Given the description of an element on the screen output the (x, y) to click on. 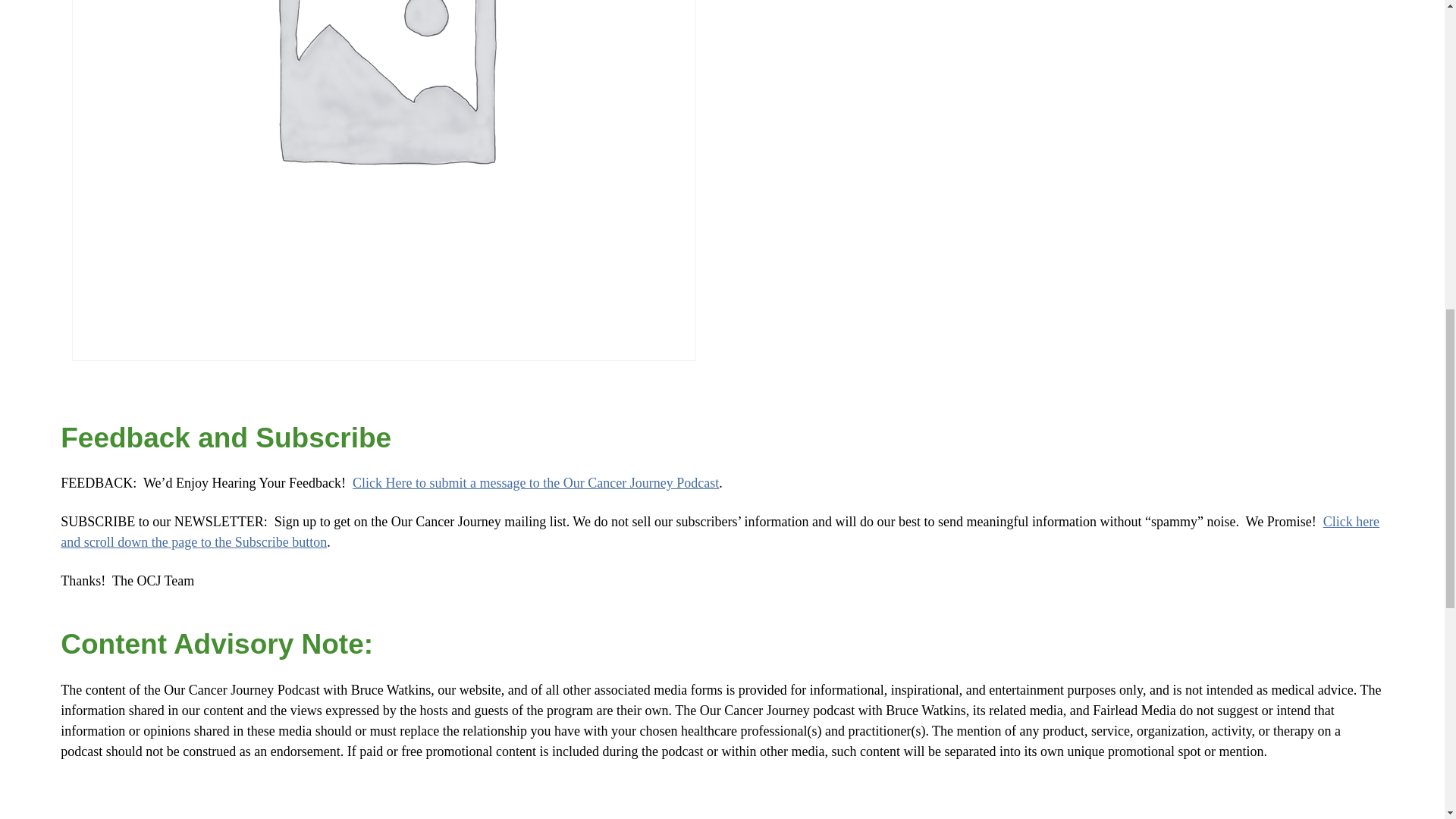
Click here and scroll down the page to the Subscribe button (719, 531)
